Given the description of an element on the screen output the (x, y) to click on. 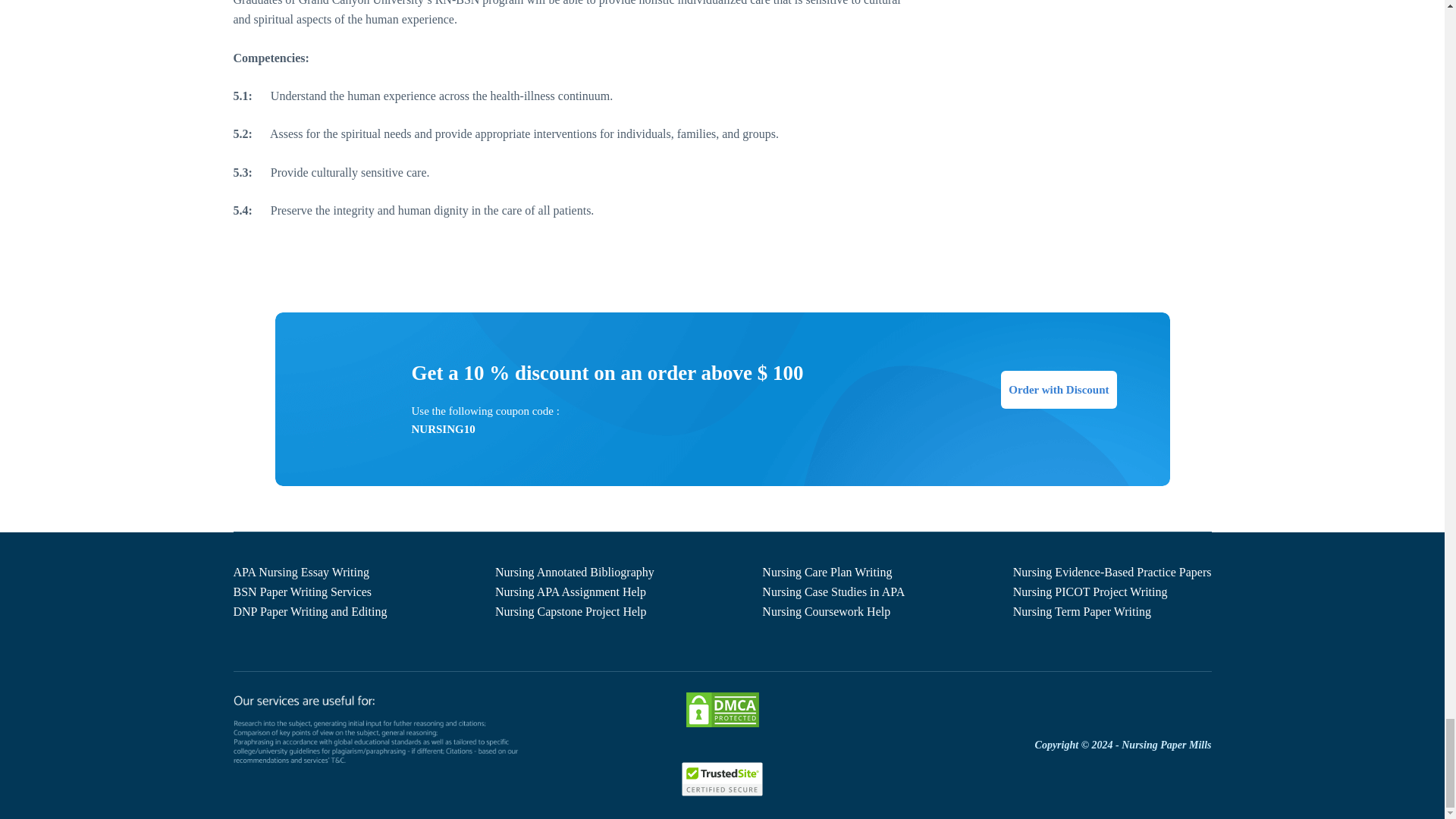
Order with Discount (1058, 389)
Nursing Case Studies in APA (832, 591)
Nursing Evidence-Based Practice Papers (1112, 571)
DNP Paper Writing and Editing (309, 611)
Nursing Coursework Help (825, 611)
BSN Paper Writing Services (302, 591)
Nursing Capstone Project Help (570, 611)
APA Nursing Essay Writing (300, 571)
Nursing Annotated Bibliography (574, 571)
Nursing Care Plan Writing (826, 571)
